Given the description of an element on the screen output the (x, y) to click on. 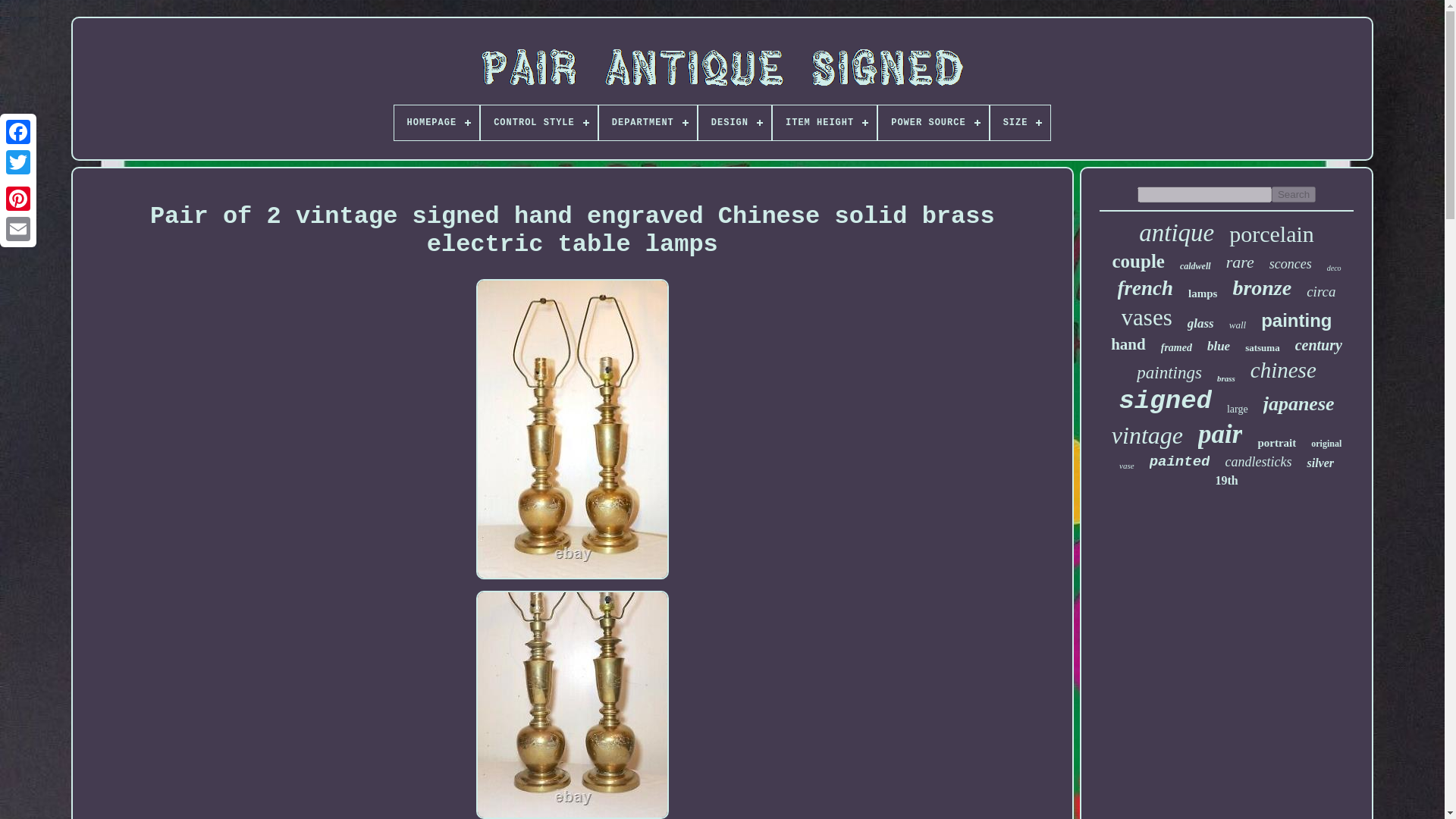
ITEM HEIGHT (824, 122)
DEPARTMENT (647, 122)
DESIGN (734, 122)
HOMEPAGE (437, 122)
Pinterest (17, 198)
Search (1293, 194)
CONTROL STYLE (538, 122)
